Given the description of an element on the screen output the (x, y) to click on. 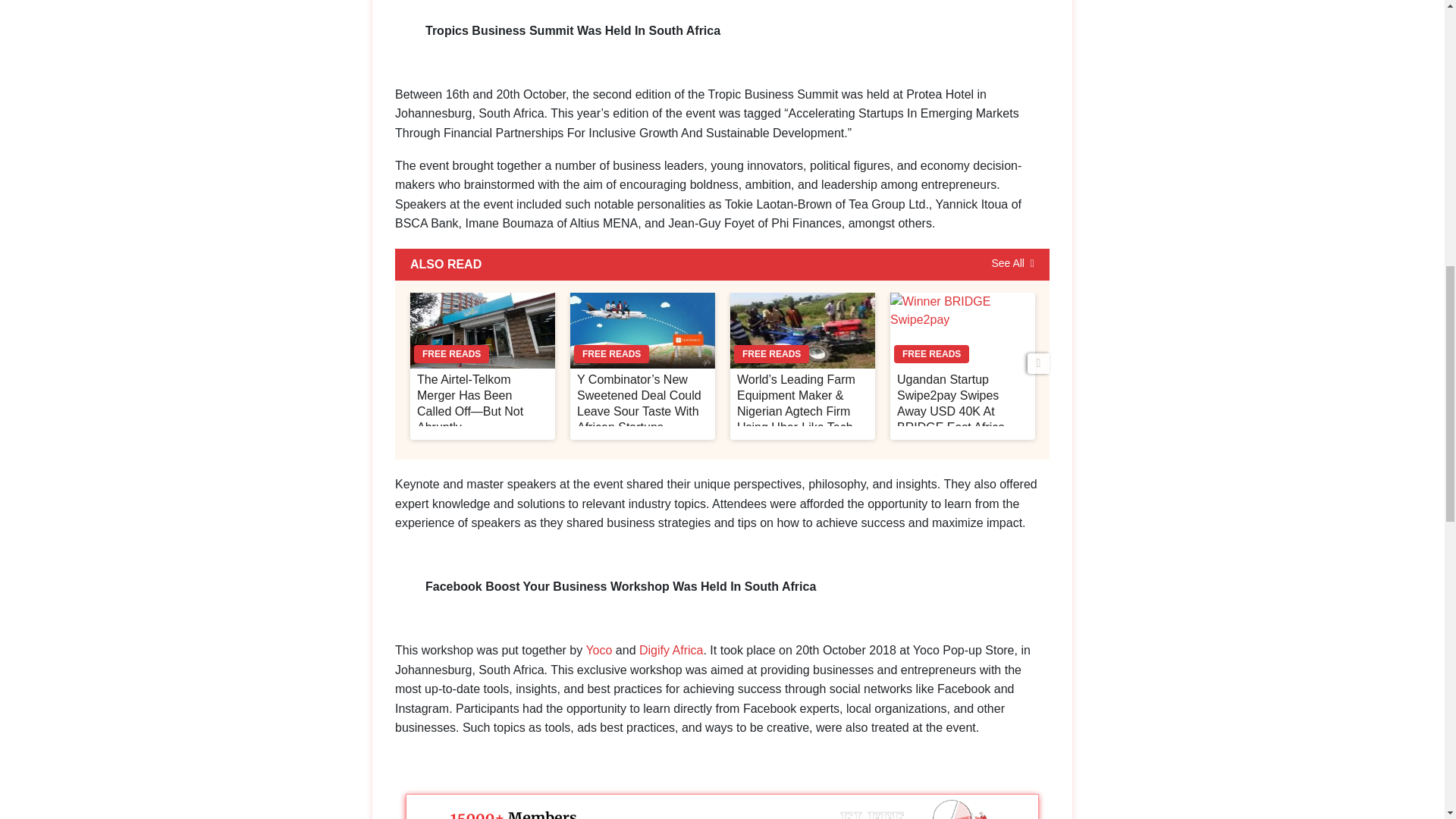
FREE READS (482, 330)
FREE READS (642, 330)
See All (1012, 264)
FREE READS (802, 330)
